Given the description of an element on the screen output the (x, y) to click on. 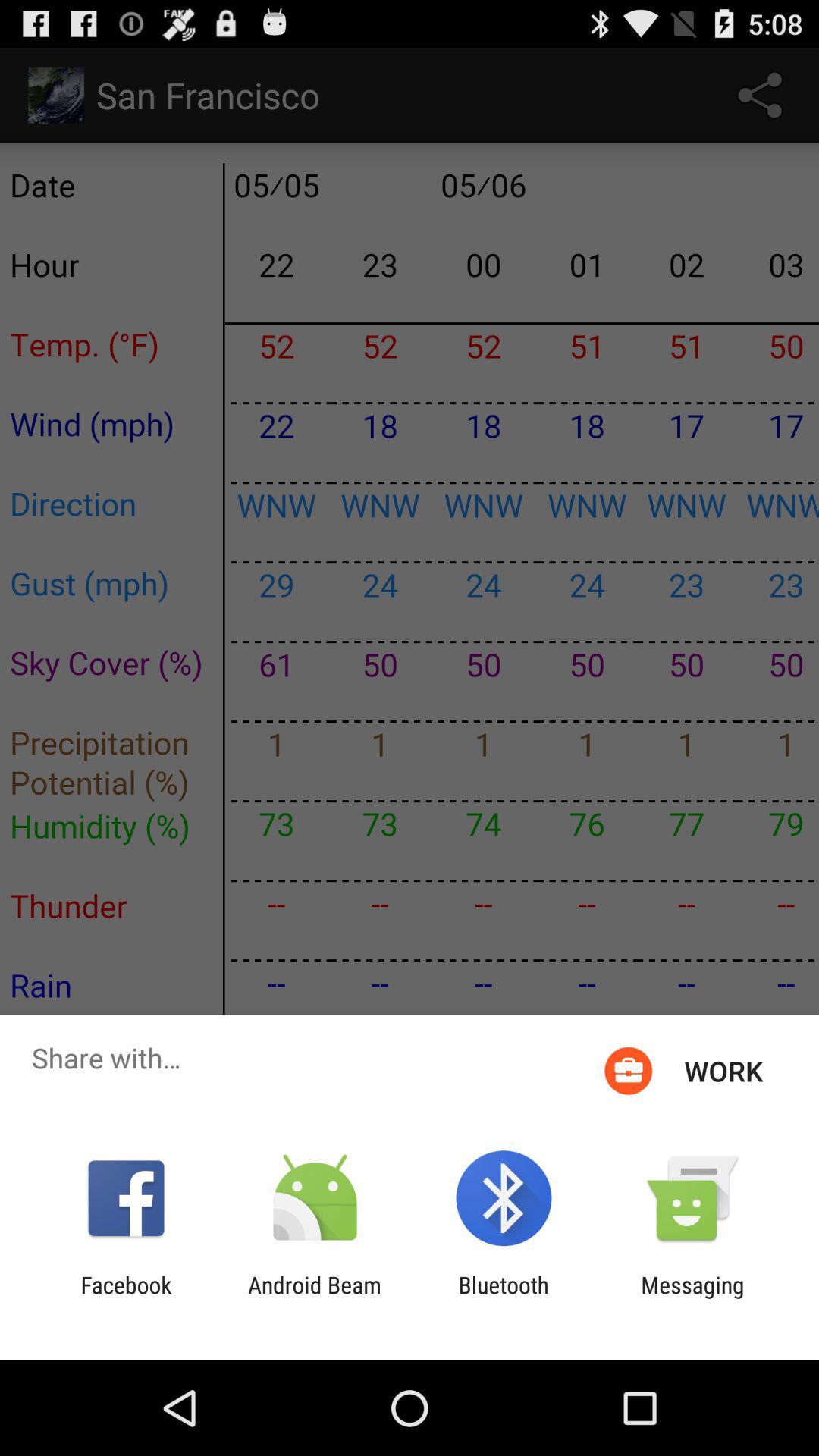
open app to the right of facebook item (314, 1298)
